Given the description of an element on the screen output the (x, y) to click on. 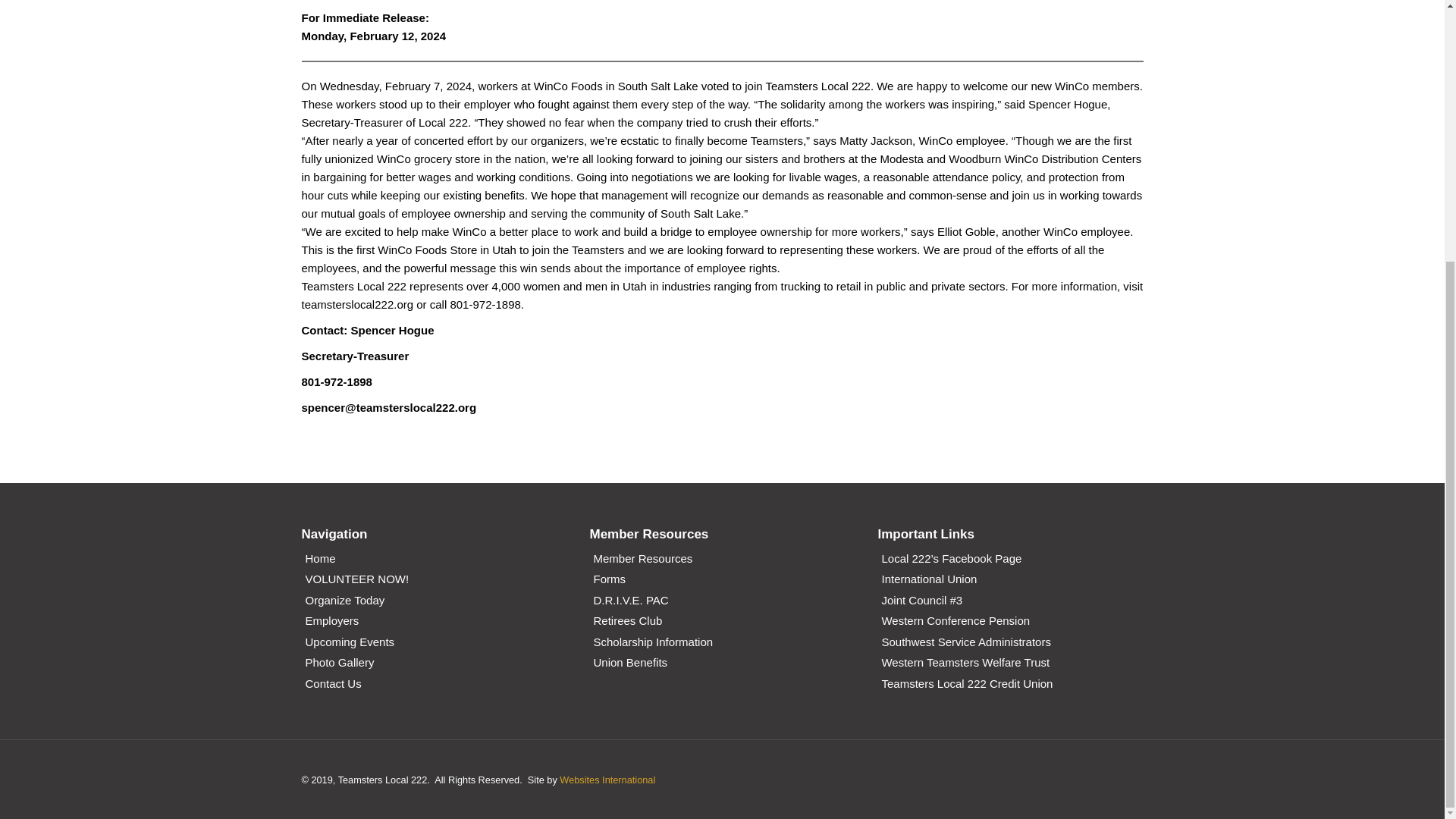
VOLUNTEER NOW! (356, 580)
D.R.I.V.E. PAC (630, 601)
Website Development (607, 779)
Member Resources (642, 560)
Photo Gallery (339, 664)
Forms (609, 580)
Upcoming Events (349, 643)
Employers (331, 622)
Home (319, 560)
Organize Today (344, 601)
Contact Us (332, 685)
